Given the description of an element on the screen output the (x, y) to click on. 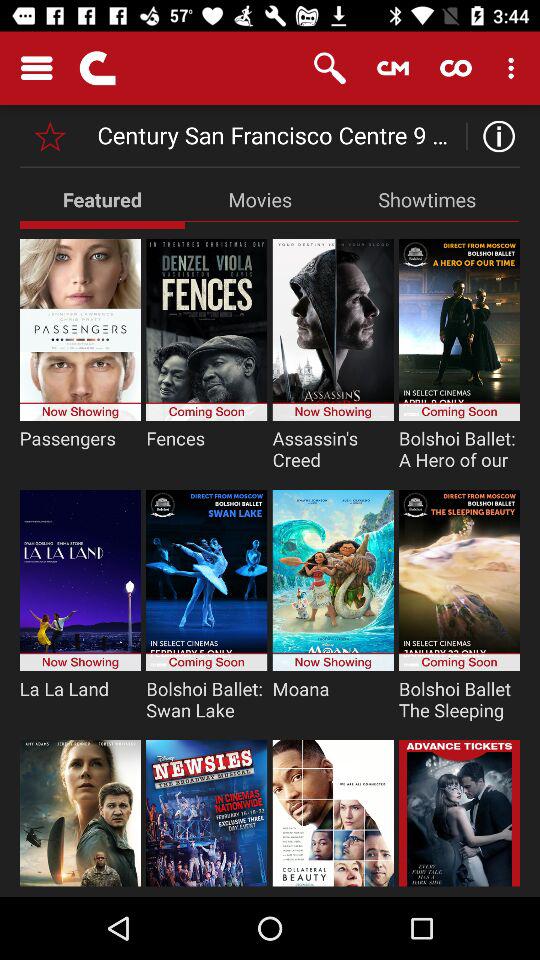
scroll until showtimes (427, 199)
